Given the description of an element on the screen output the (x, y) to click on. 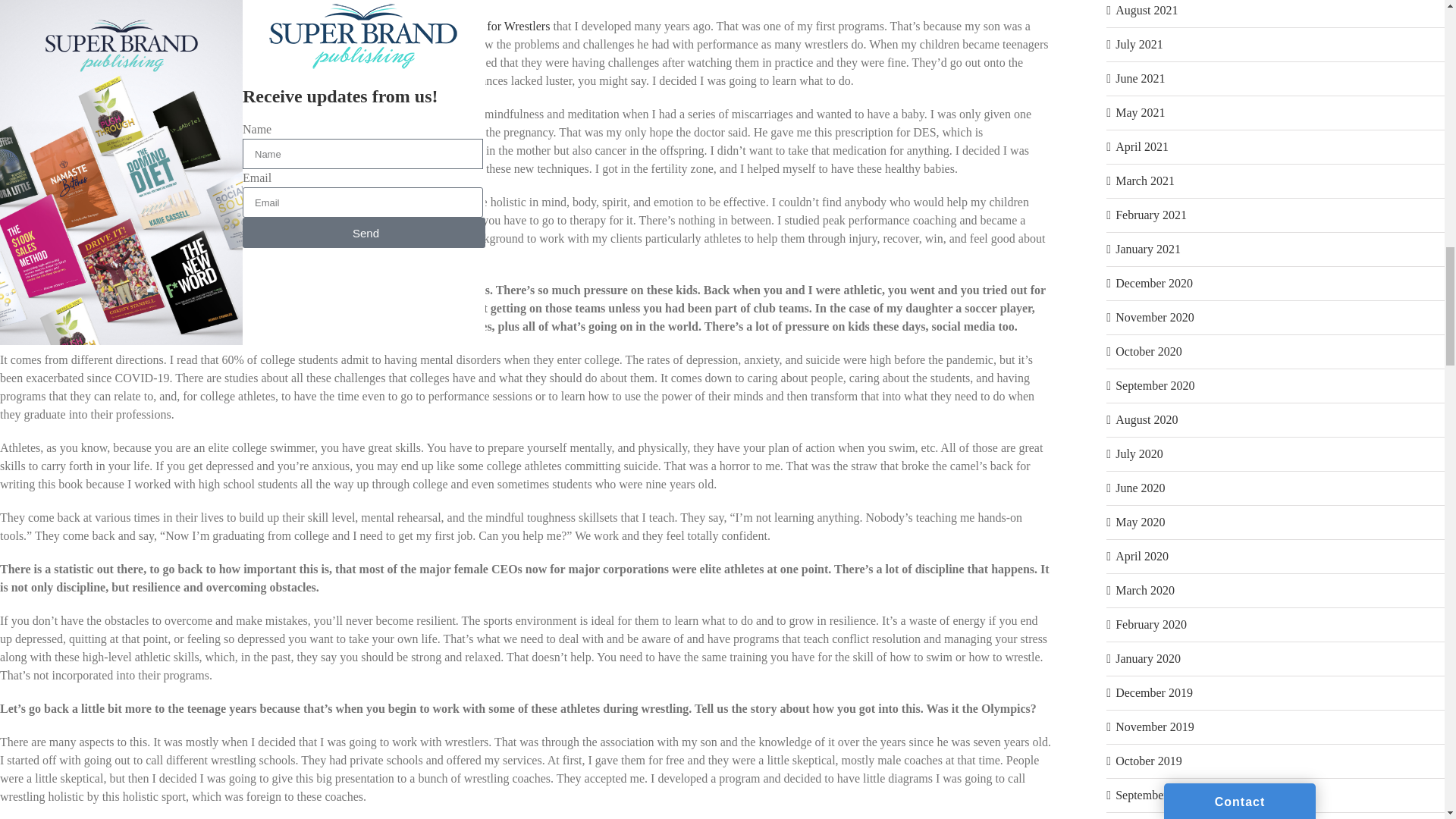
Winning Ways for Wrestlers (481, 25)
